Given the description of an element on the screen output the (x, y) to click on. 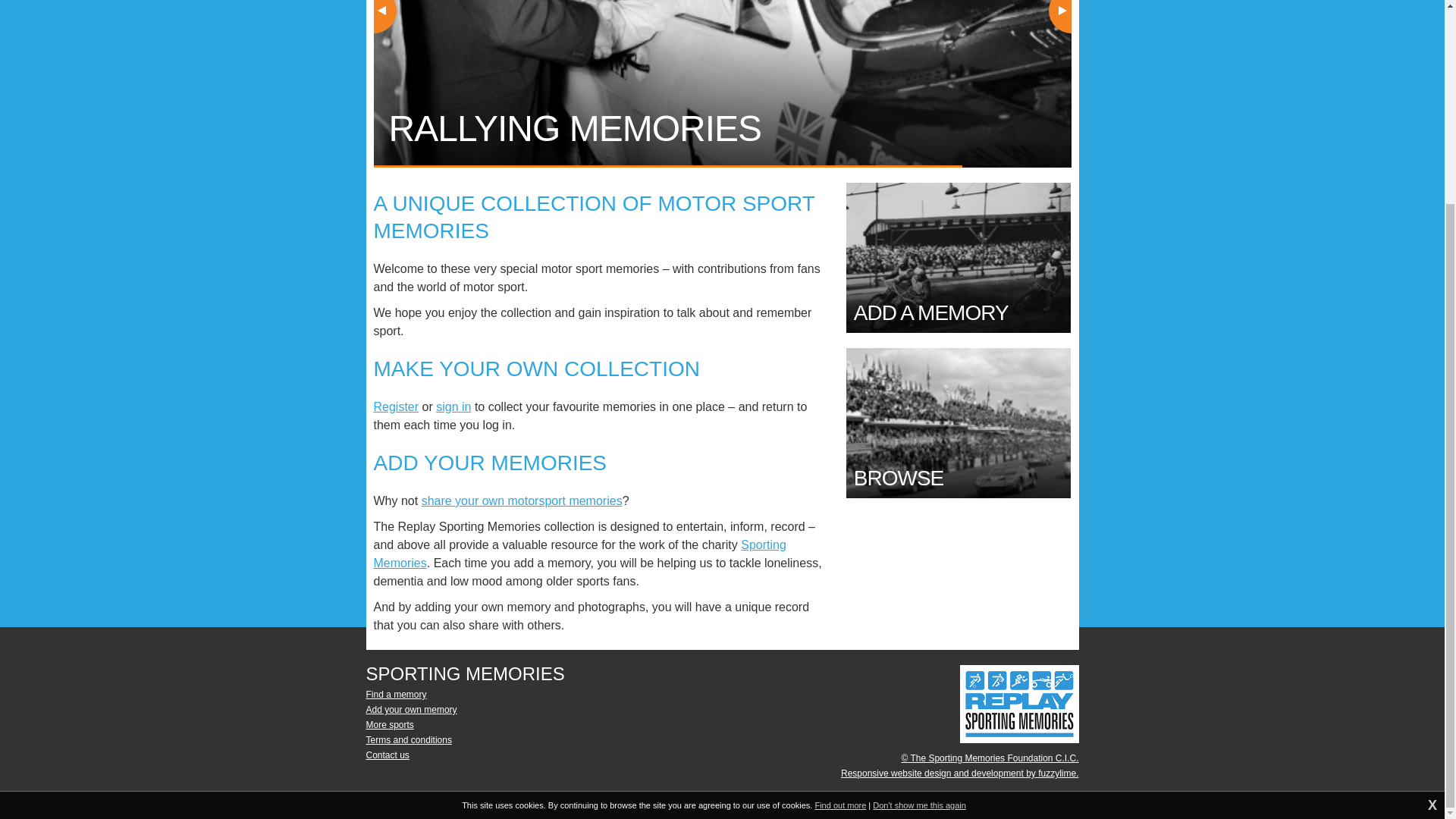
More sports (389, 724)
Add your own memory (411, 709)
BROWSE (958, 422)
Register (395, 406)
Find a memory (395, 694)
Sporting Memories (579, 553)
Contact us (387, 755)
RALLYING MEMORIES (721, 83)
share your own motorsport memories (522, 500)
ADD A MEMORY (958, 257)
sign in (452, 406)
Terms and conditions (408, 739)
